Given the description of an element on the screen output the (x, y) to click on. 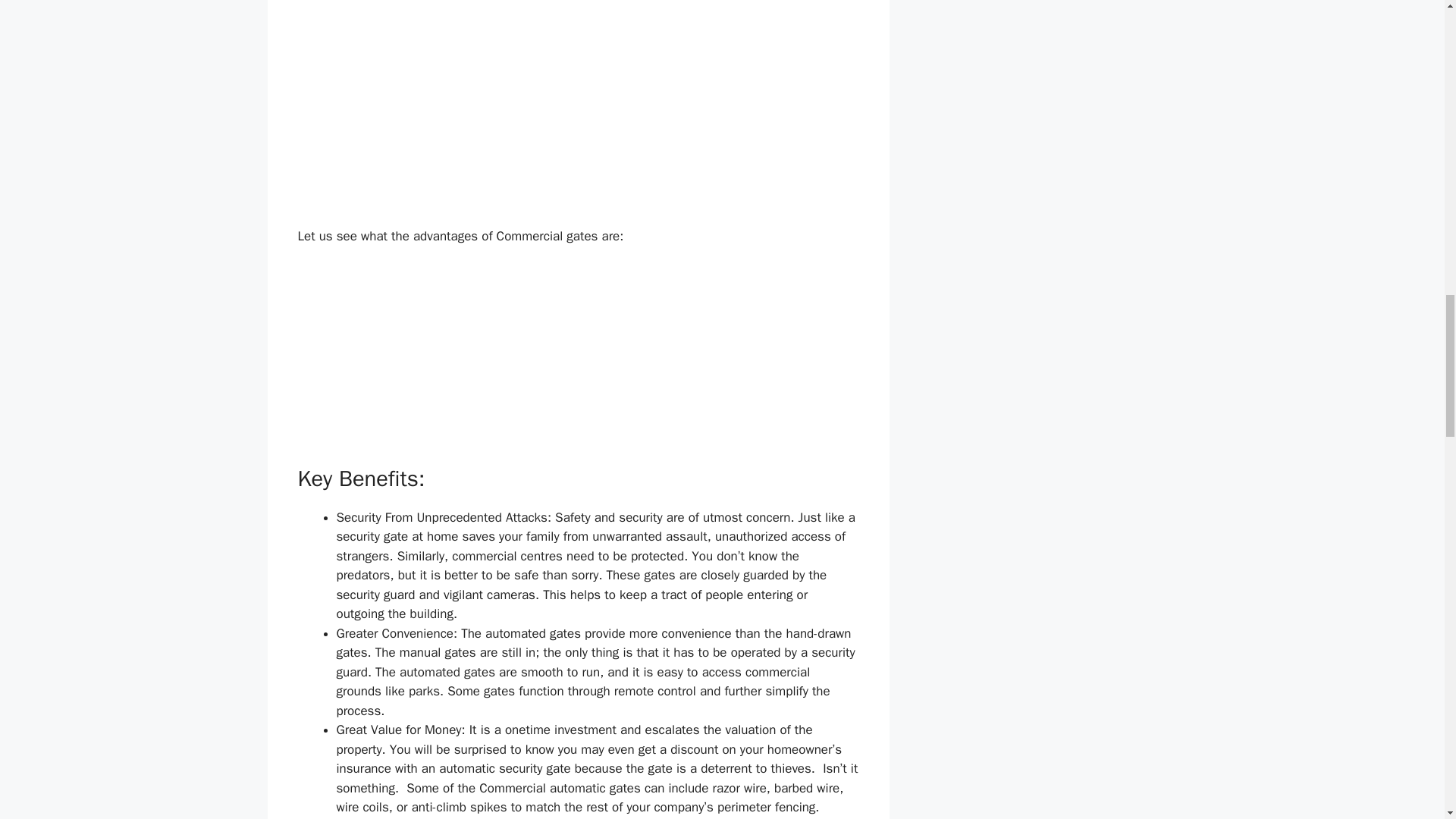
Advertisement (664, 6)
